Given the description of an element on the screen output the (x, y) to click on. 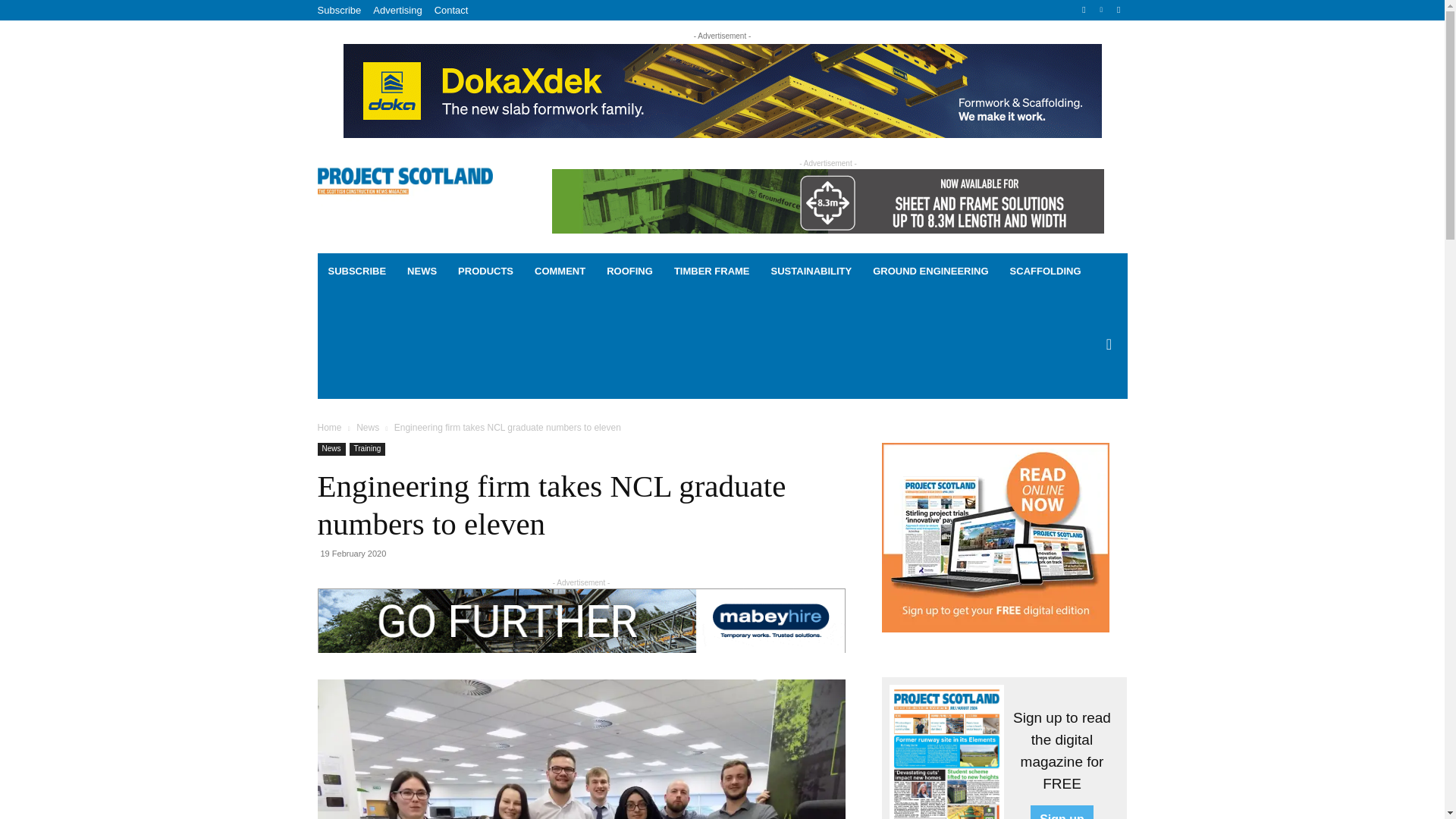
GROUND ENGINEERING (929, 271)
NEWS (421, 271)
View all posts in News (367, 427)
TIMBER FRAME (711, 271)
ROOFING (629, 271)
SCAFFOLDING (1045, 271)
COMMENT (559, 271)
Linkedin (1101, 9)
Twitter (1117, 9)
Facebook (1084, 9)
